Given the description of an element on the screen output the (x, y) to click on. 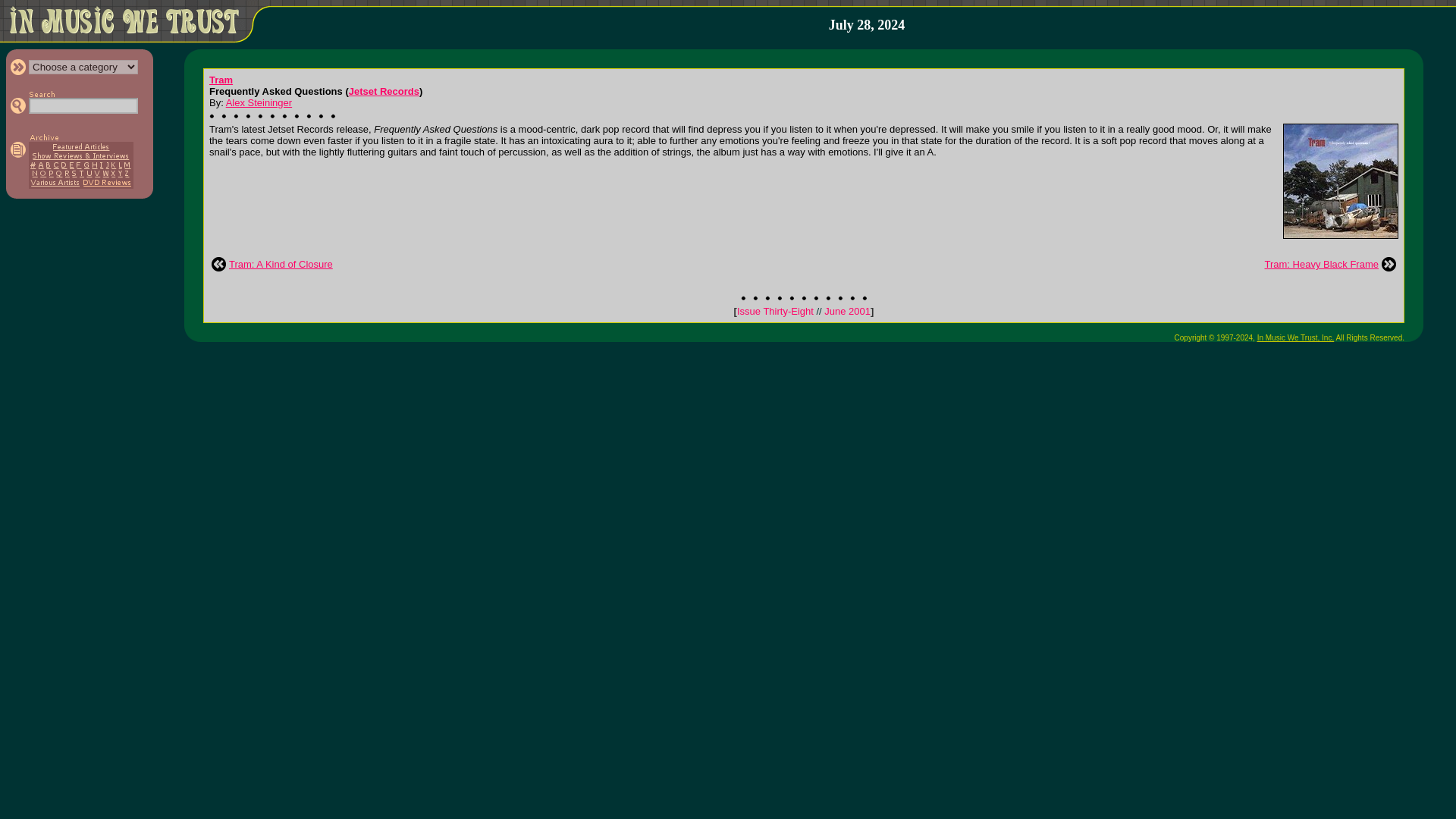
Tram: A Kind of Closure (280, 264)
Alex Steininger (258, 102)
In Music We Trust, Inc. (1296, 337)
Jetset Records (384, 91)
Tram (220, 79)
Tram: Heavy Black Frame (1321, 264)
July 28, 2024 (866, 24)
